Given the description of an element on the screen output the (x, y) to click on. 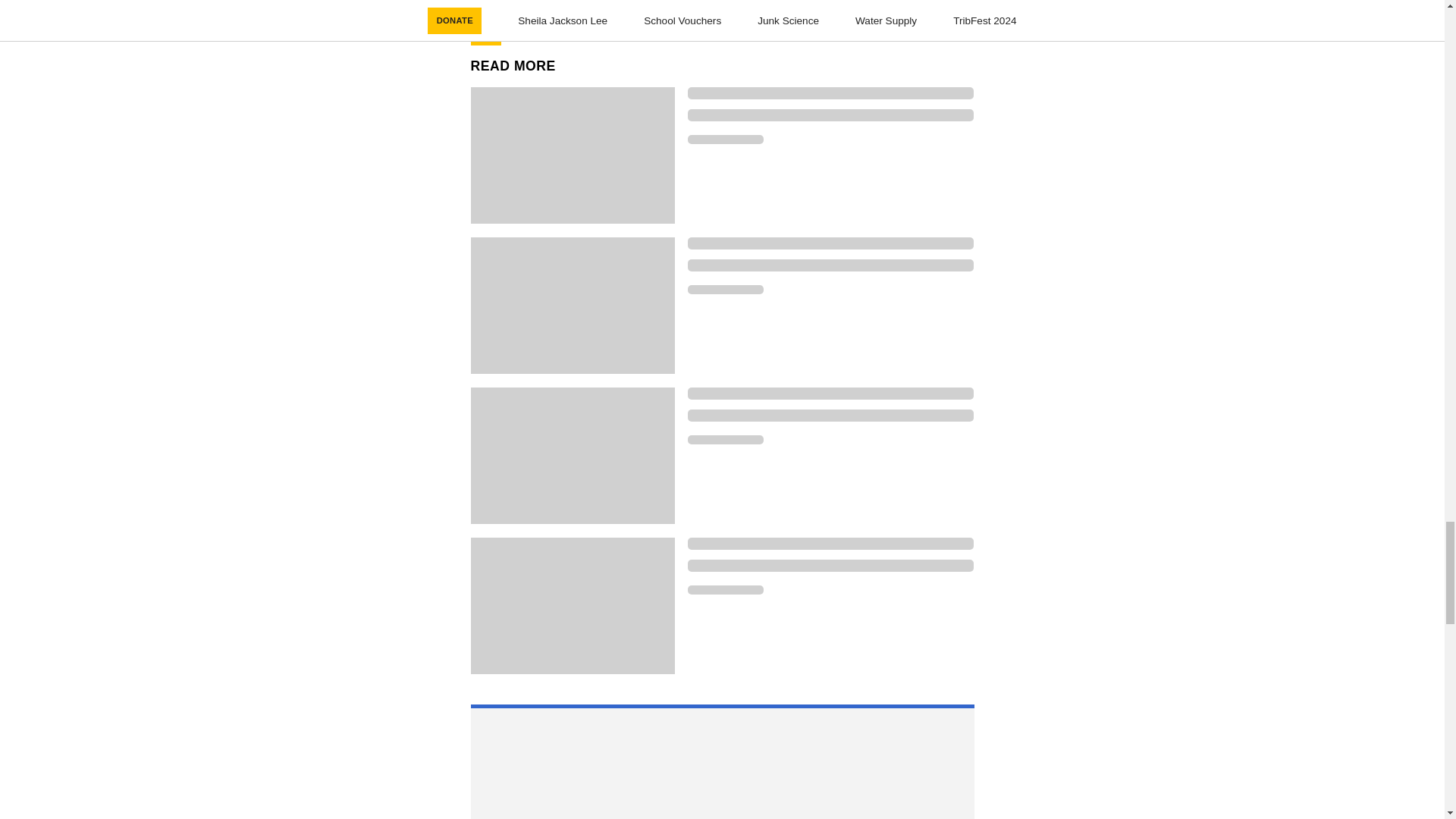
Loading indicator (830, 243)
Loading indicator (724, 289)
Loading indicator (724, 439)
Loading indicator (830, 565)
Loading indicator (830, 415)
Loading indicator (724, 589)
Loading indicator (724, 139)
Loading indicator (830, 92)
Loading indicator (830, 543)
Loading indicator (830, 265)
